Given the description of an element on the screen output the (x, y) to click on. 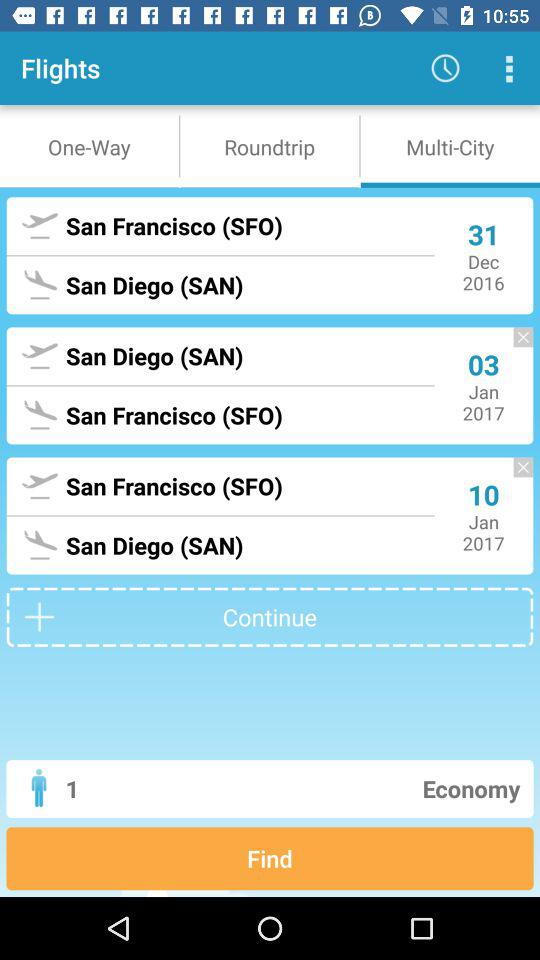
delete scheduled flight (513, 476)
